Given the description of an element on the screen output the (x, y) to click on. 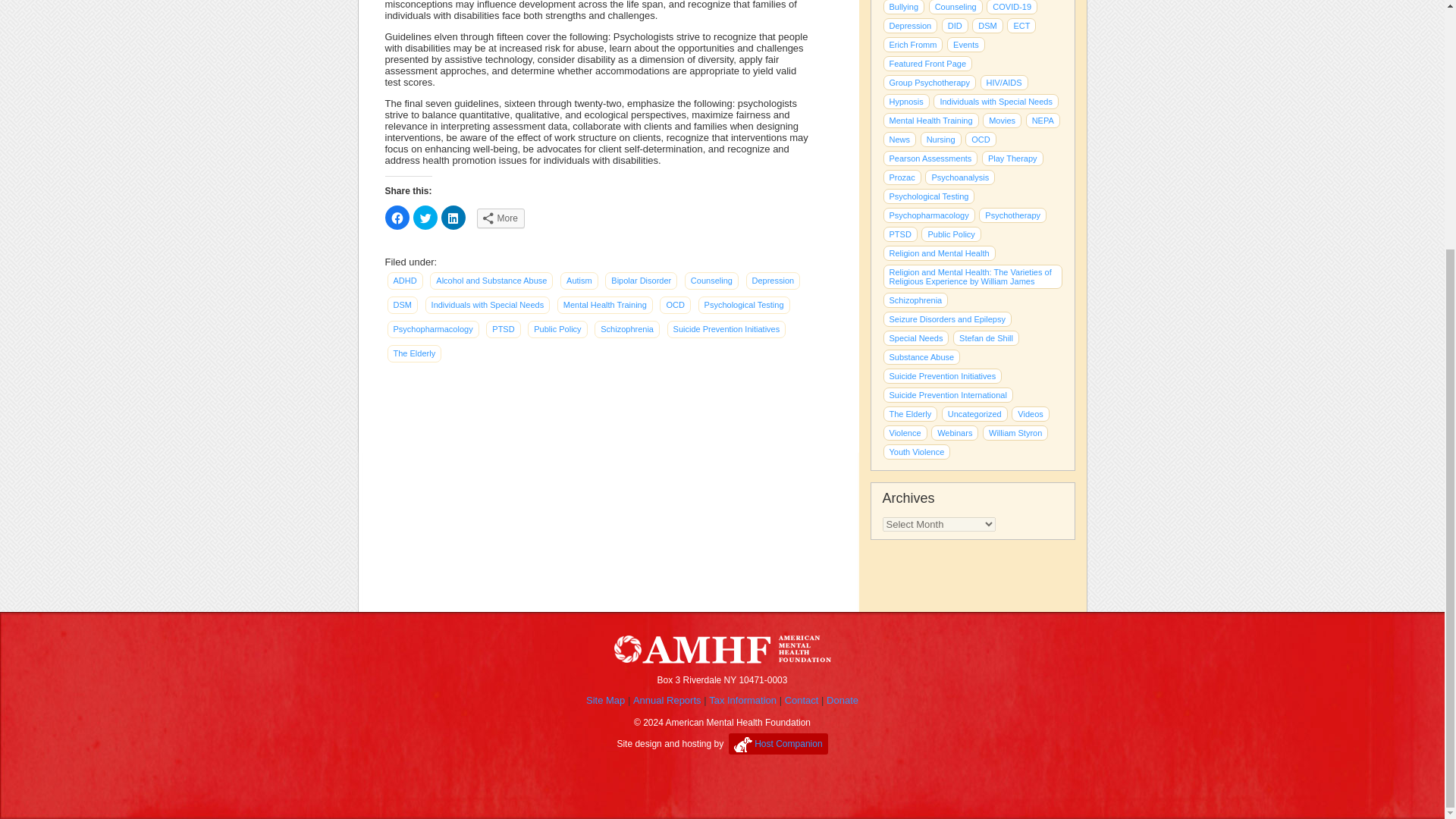
Autism (579, 280)
Depression (772, 280)
Click to share on LinkedIn (453, 217)
Bipolar Disorder (641, 280)
Click to share on Facebook (397, 217)
Click to share on Twitter (424, 217)
Counseling (711, 280)
Individuals with Special Needs (487, 304)
Alcohol and Substance Abuse (491, 280)
Mental Health Training (604, 304)
Online courses offered for CEU (954, 432)
DSM (401, 304)
ADHD (404, 280)
Eric J. Green (1012, 158)
